Given the description of an element on the screen output the (x, y) to click on. 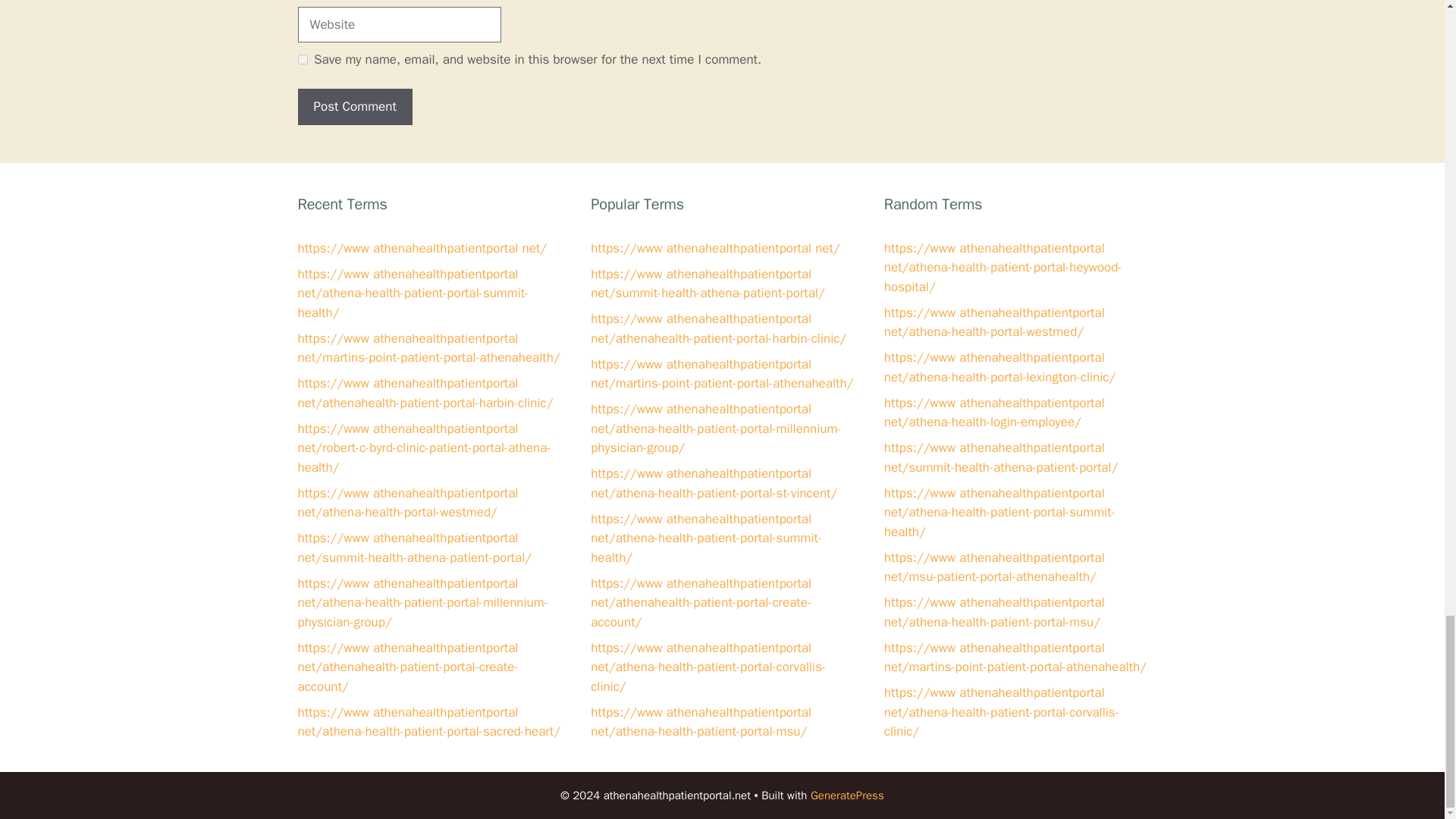
Post Comment (354, 106)
yes (302, 59)
Post Comment (354, 106)
